Given the description of an element on the screen output the (x, y) to click on. 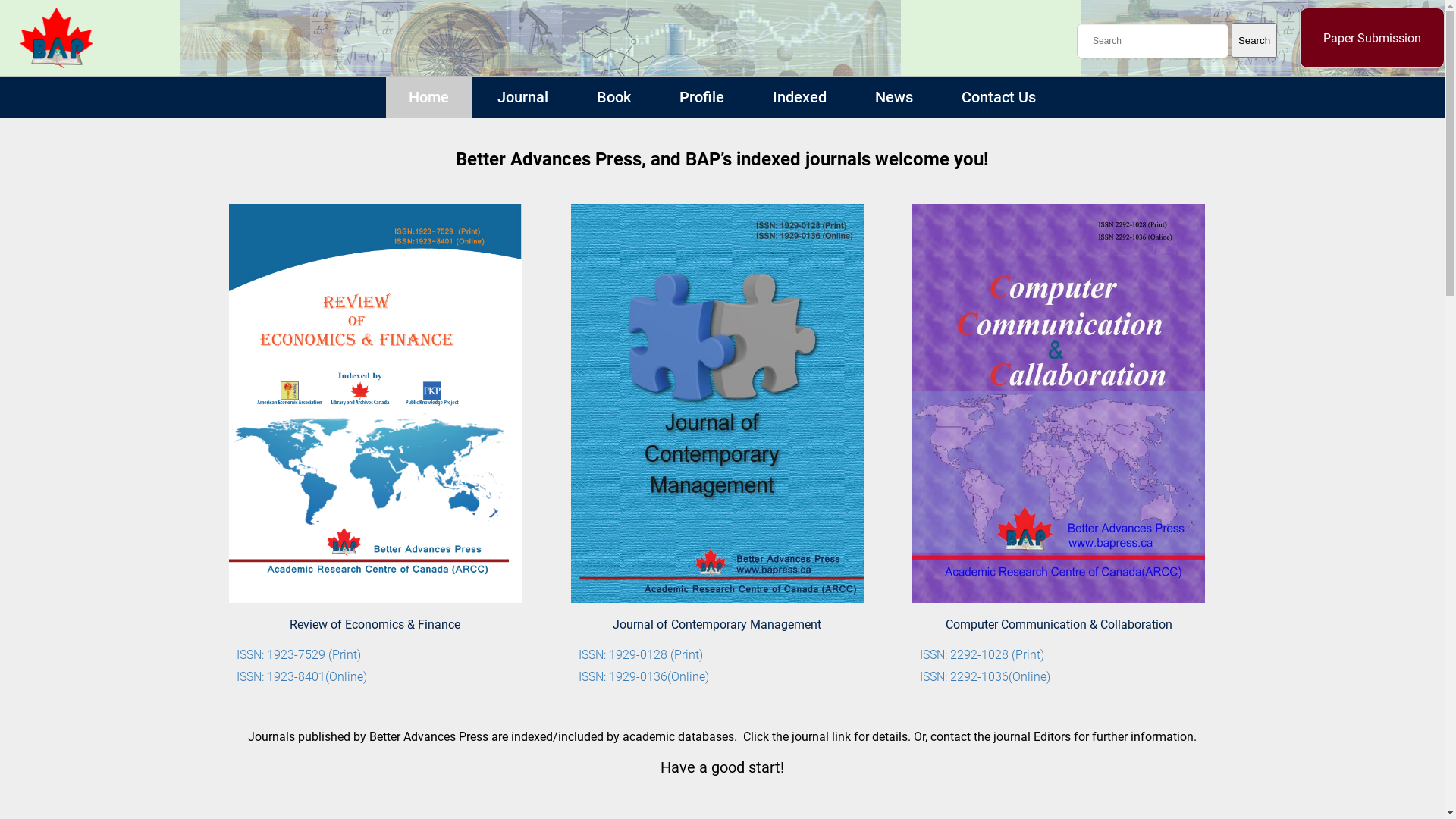
News Element type: text (893, 98)
Contact Us Element type: text (998, 98)
BAP Element type: hover (55, 37)
Search Element type: text (1254, 39)
BAP Element type: hover (55, 63)
Indexed Element type: text (799, 98)
Book Element type: text (613, 98)
Profile Element type: text (701, 98)
Home Element type: text (428, 98)
Journal Element type: text (522, 98)
